Given the description of an element on the screen output the (x, y) to click on. 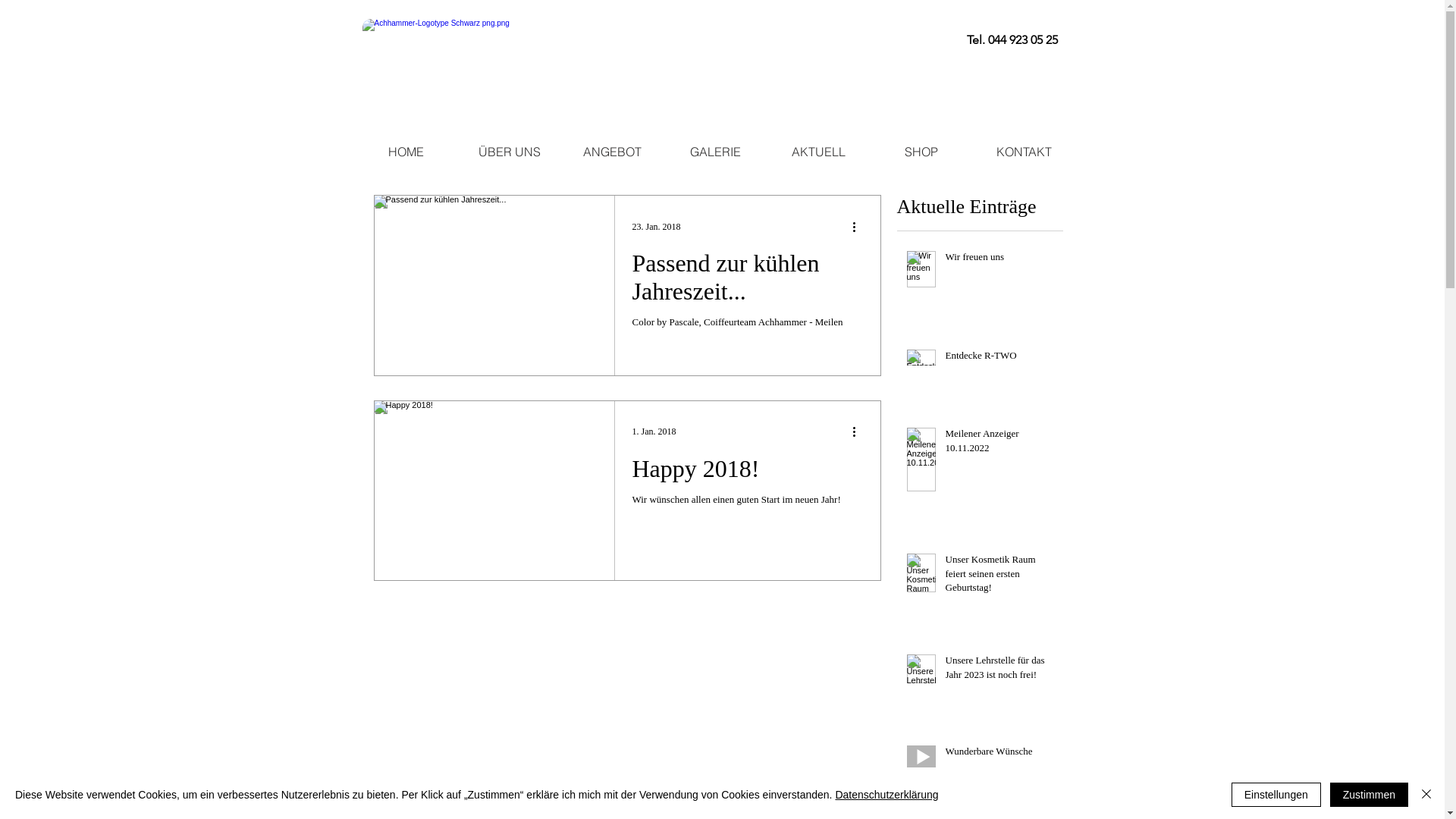
Unser Kosmetik Raum feiert seinen ersten Geburtstag! Element type: text (998, 576)
AKTUELL Element type: text (818, 151)
GALERIE Element type: text (715, 151)
KONTAKT Element type: text (1023, 151)
SHOP Element type: text (921, 151)
Zustimmen Element type: text (1369, 794)
Meilener Anzeiger 10.11.2022 Element type: text (998, 443)
ANGEBOT Element type: text (612, 151)
Wir freuen uns Element type: text (998, 259)
Happy 2018! Element type: text (747, 472)
Einstellungen Element type: text (1276, 794)
HOME Element type: text (406, 151)
Entdecke R-TWO Element type: text (998, 358)
